Given the description of an element on the screen output the (x, y) to click on. 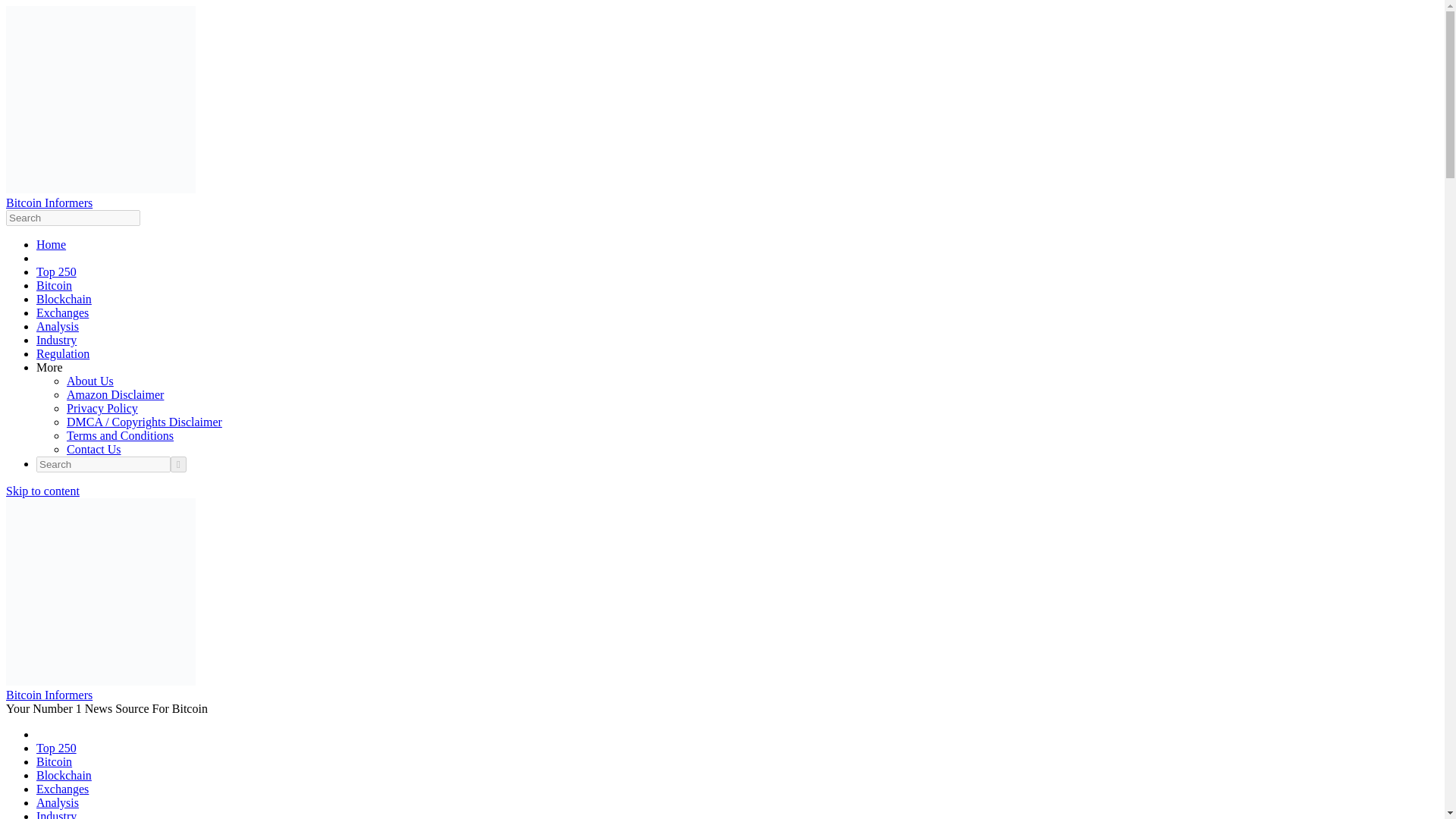
Industry (56, 814)
Bitcoin (53, 285)
Bitcoin (53, 761)
About Us (89, 380)
Top 250 (56, 748)
Blockchain (63, 775)
Exchanges (62, 788)
Exchanges (62, 312)
More (49, 367)
Blockchain (63, 298)
